Given the description of an element on the screen output the (x, y) to click on. 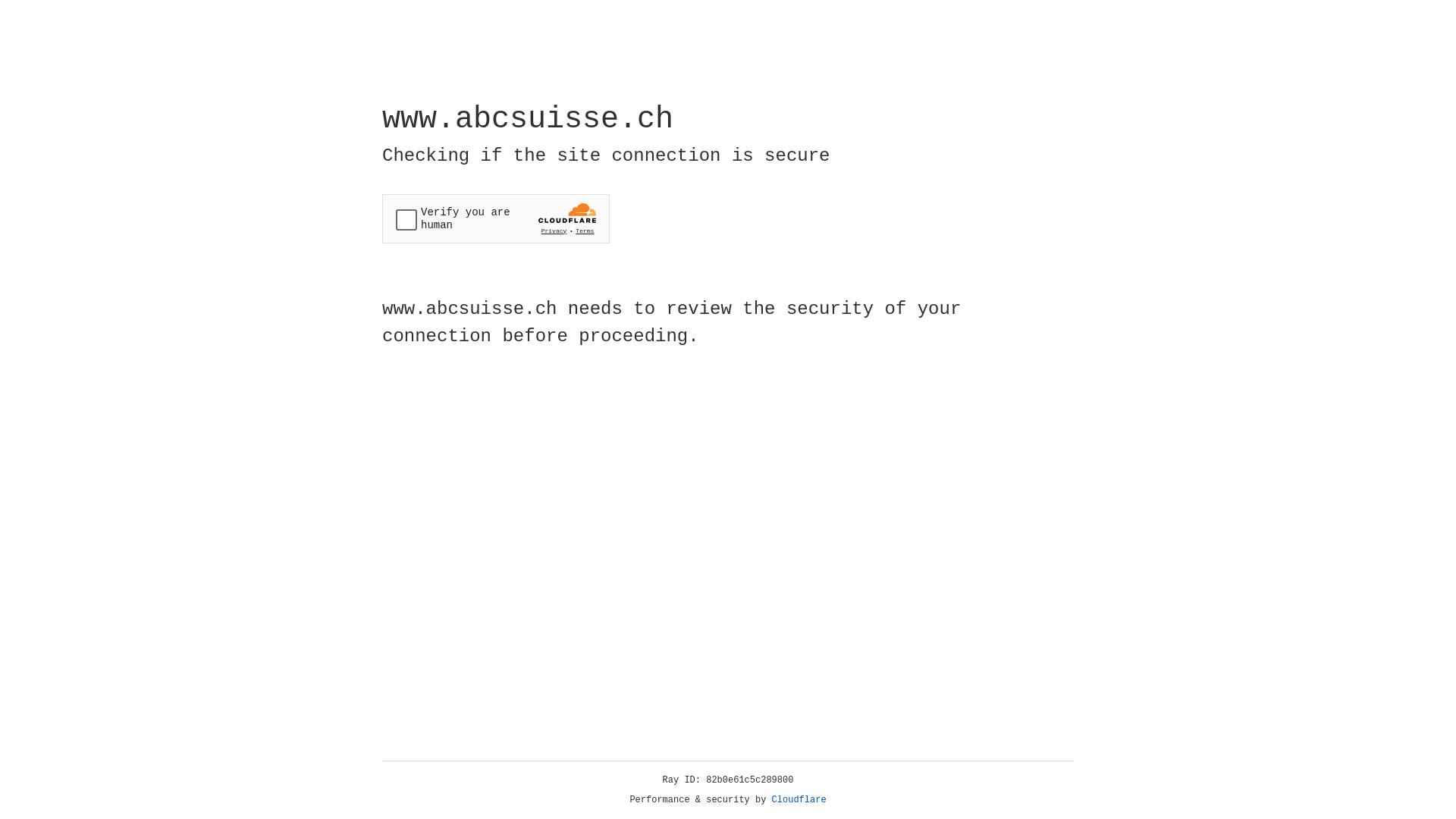
Widget containing a Cloudflare security challenge Element type: hover (495, 218)
Cloudflare Element type: text (798, 799)
